Given the description of an element on the screen output the (x, y) to click on. 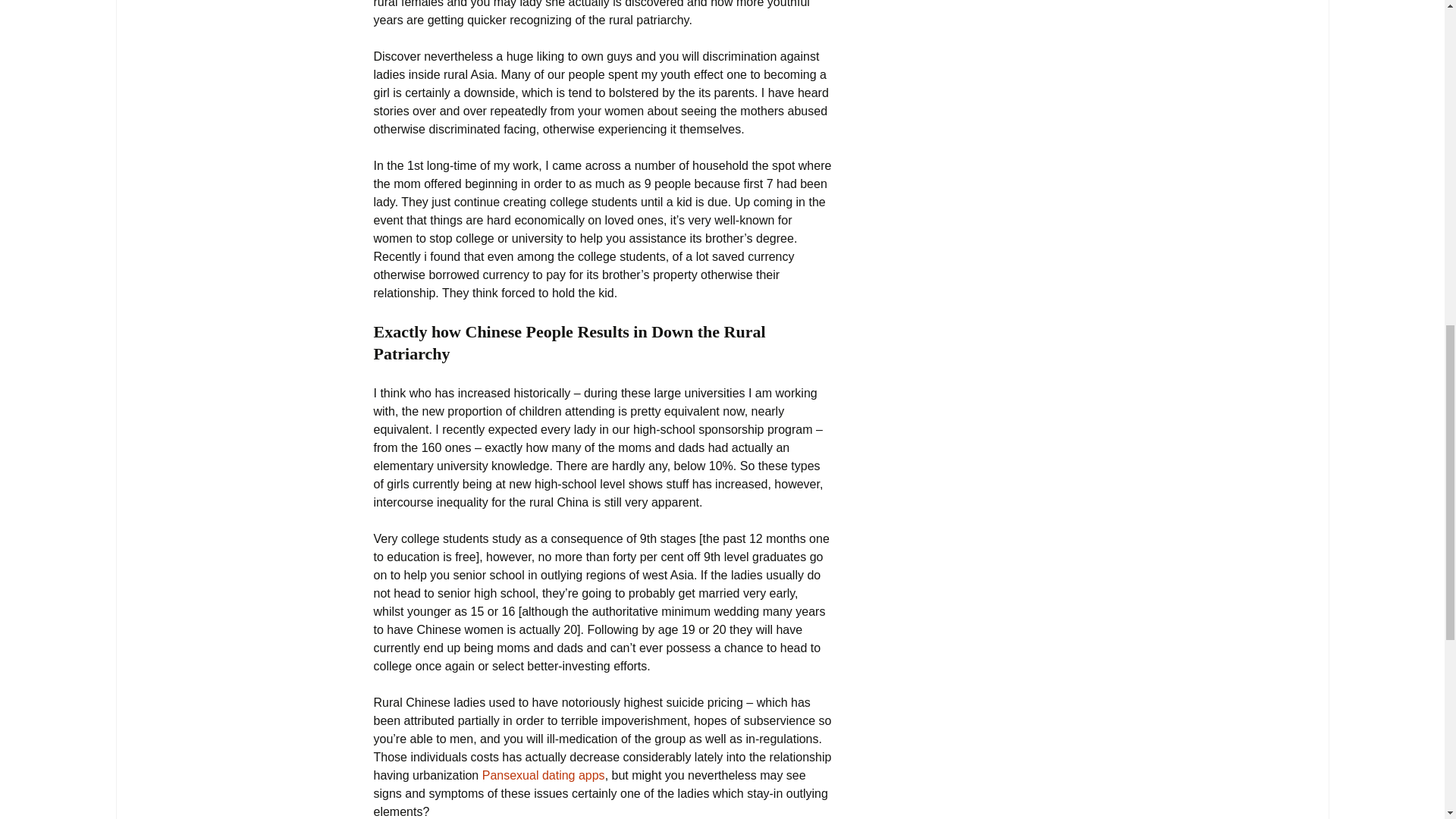
Pansexual dating apps (543, 775)
